Given the description of an element on the screen output the (x, y) to click on. 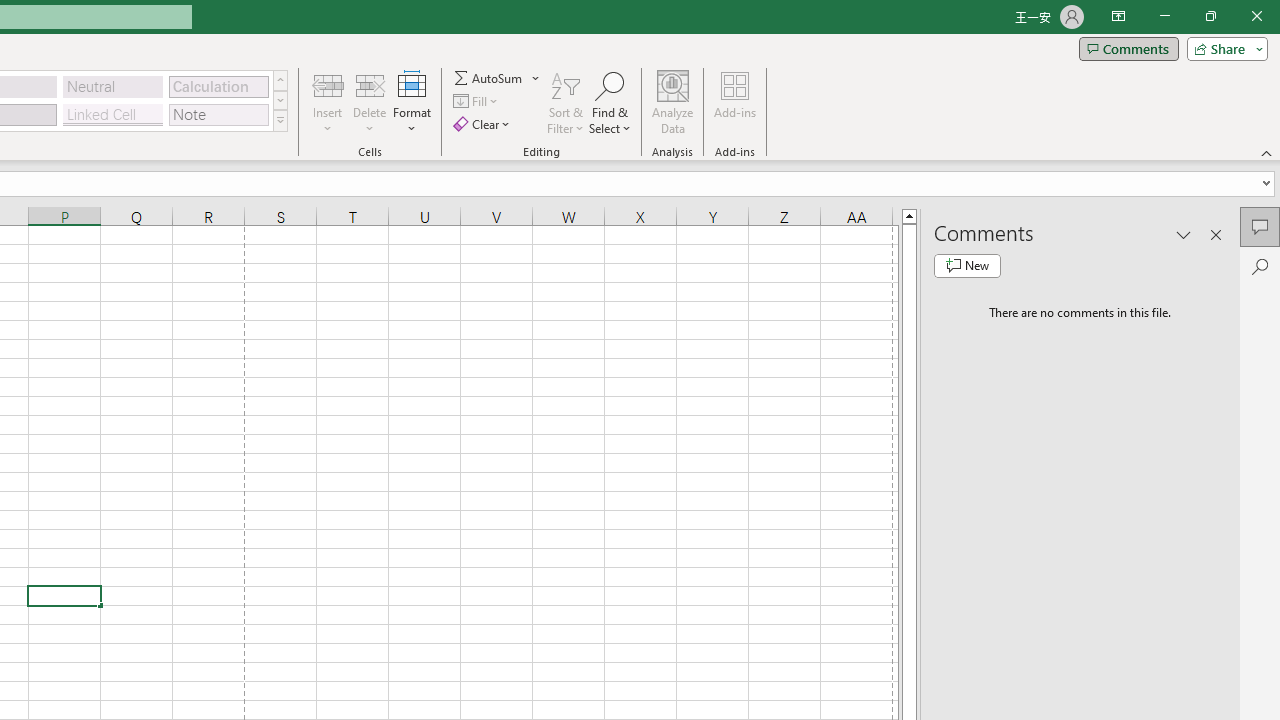
Sum (489, 78)
Linked Cell (113, 114)
Minimize (1164, 16)
New comment (967, 265)
Fill (477, 101)
Share (1223, 48)
Close (1256, 16)
Collapse the Ribbon (1267, 152)
Restore Down (1210, 16)
Clear (483, 124)
Cell Styles (280, 120)
Line up (909, 215)
Delete (369, 102)
Comments (1128, 48)
